Given the description of an element on the screen output the (x, y) to click on. 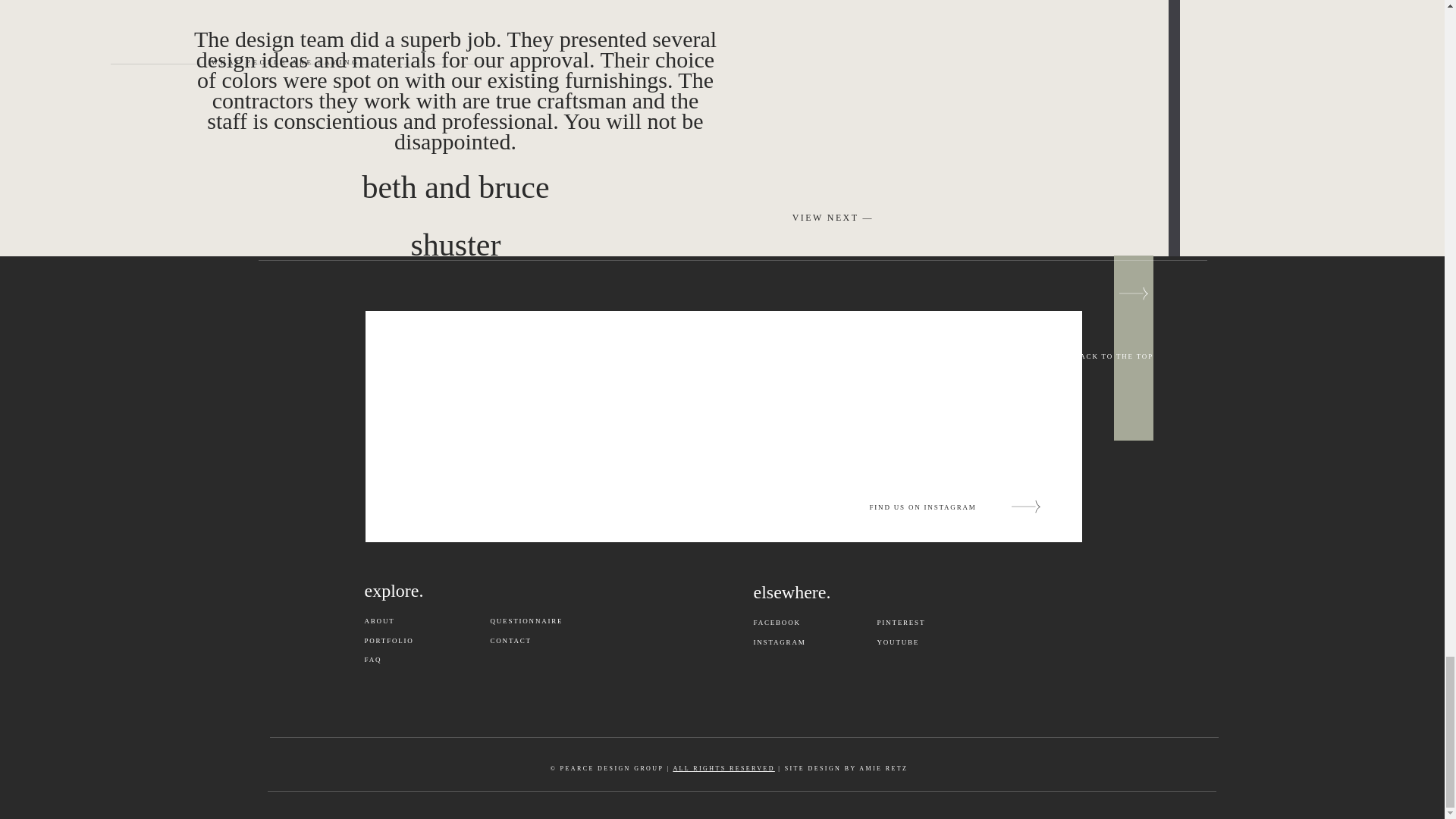
FACEBOOK (797, 623)
FAQ (419, 660)
CONTACT (551, 641)
ABOUT (407, 621)
WHAT PEOPLE ARE SAYING (285, 63)
PORTFOLIO (407, 641)
YOUTUBE  (938, 643)
INSTAGRAM (797, 643)
PINTEREST (919, 623)
FIND US ON INSTAGRAM (936, 508)
BACK TO THE TOP (1134, 357)
QUESTIONNAIRE (533, 621)
ALL RIGHTS RESERVED (723, 768)
